Given the description of an element on the screen output the (x, y) to click on. 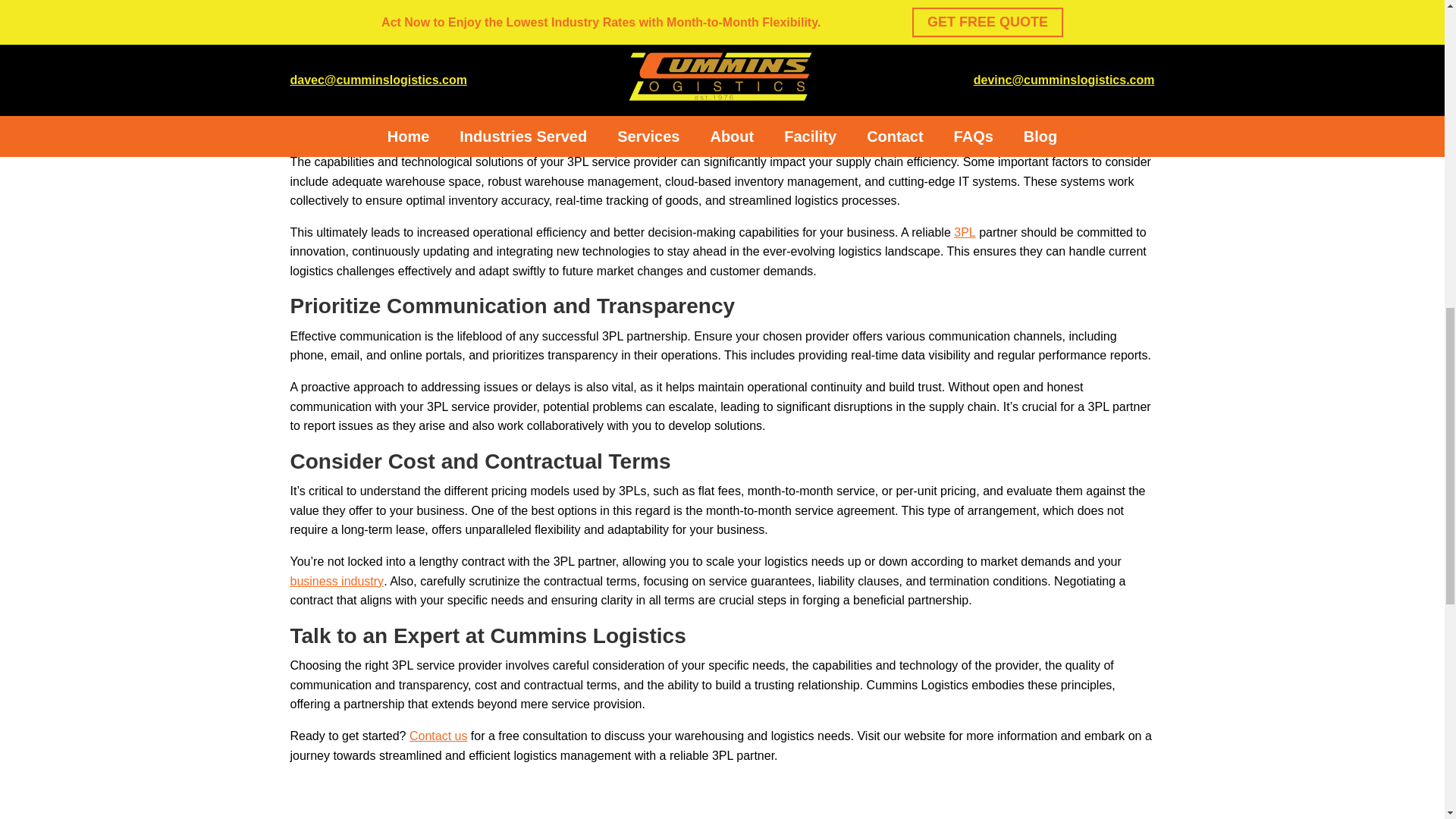
business industry (336, 581)
warehousing (1004, 8)
3PL (964, 232)
Contact us (438, 736)
inventory management (351, 26)
